Given the description of an element on the screen output the (x, y) to click on. 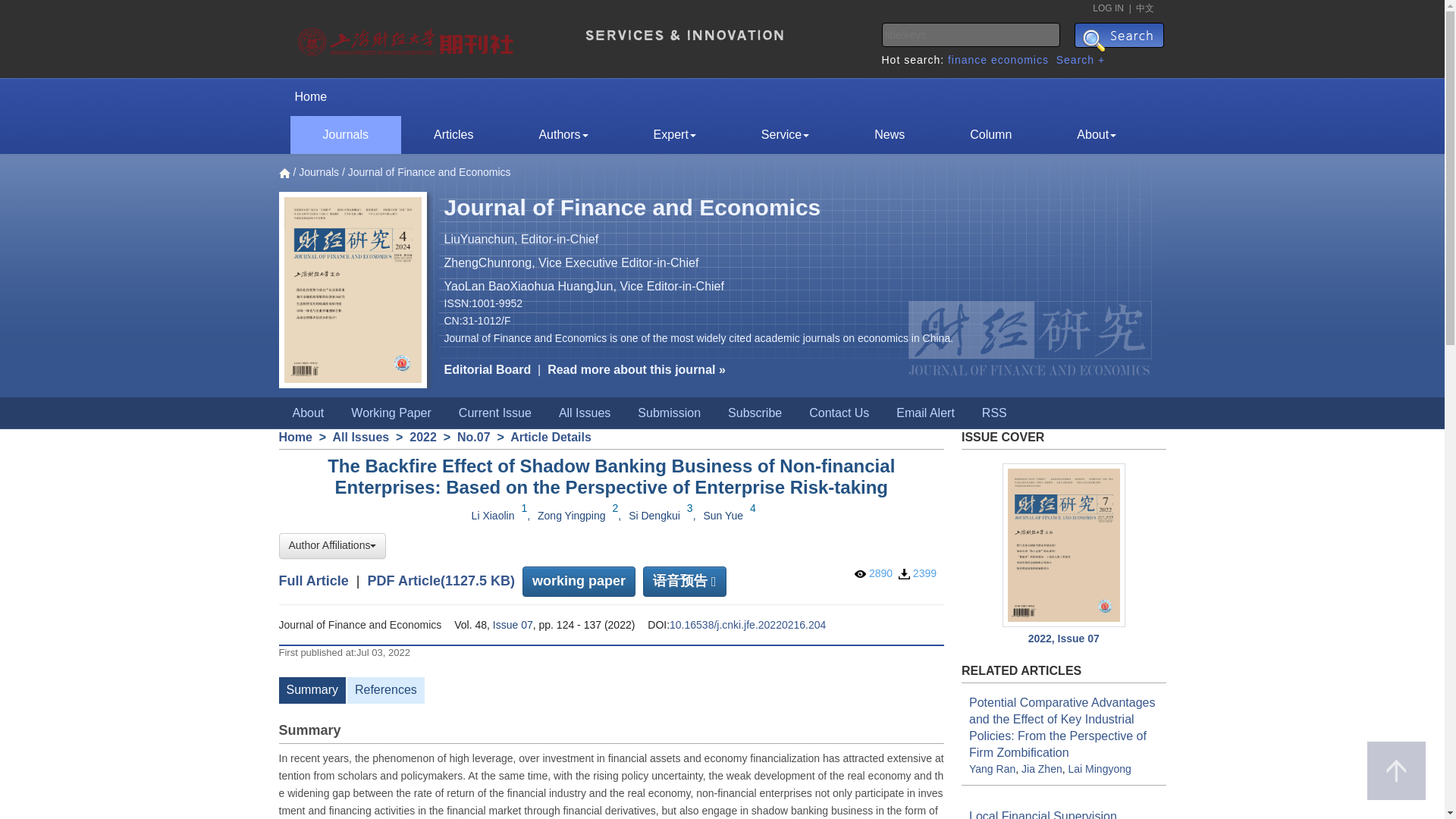
Home (316, 96)
View articles of the same author (654, 515)
finance (967, 60)
Subscribe (754, 412)
Articles (453, 134)
About (1095, 134)
Working Paper (391, 412)
Editorial Board (487, 369)
Expert center (675, 134)
Our services (785, 134)
RSS (994, 412)
Journals (344, 134)
About Department of Academic Journals, SUFE (1095, 134)
Email Alert (925, 412)
Special report  (990, 134)
